Given the description of an element on the screen output the (x, y) to click on. 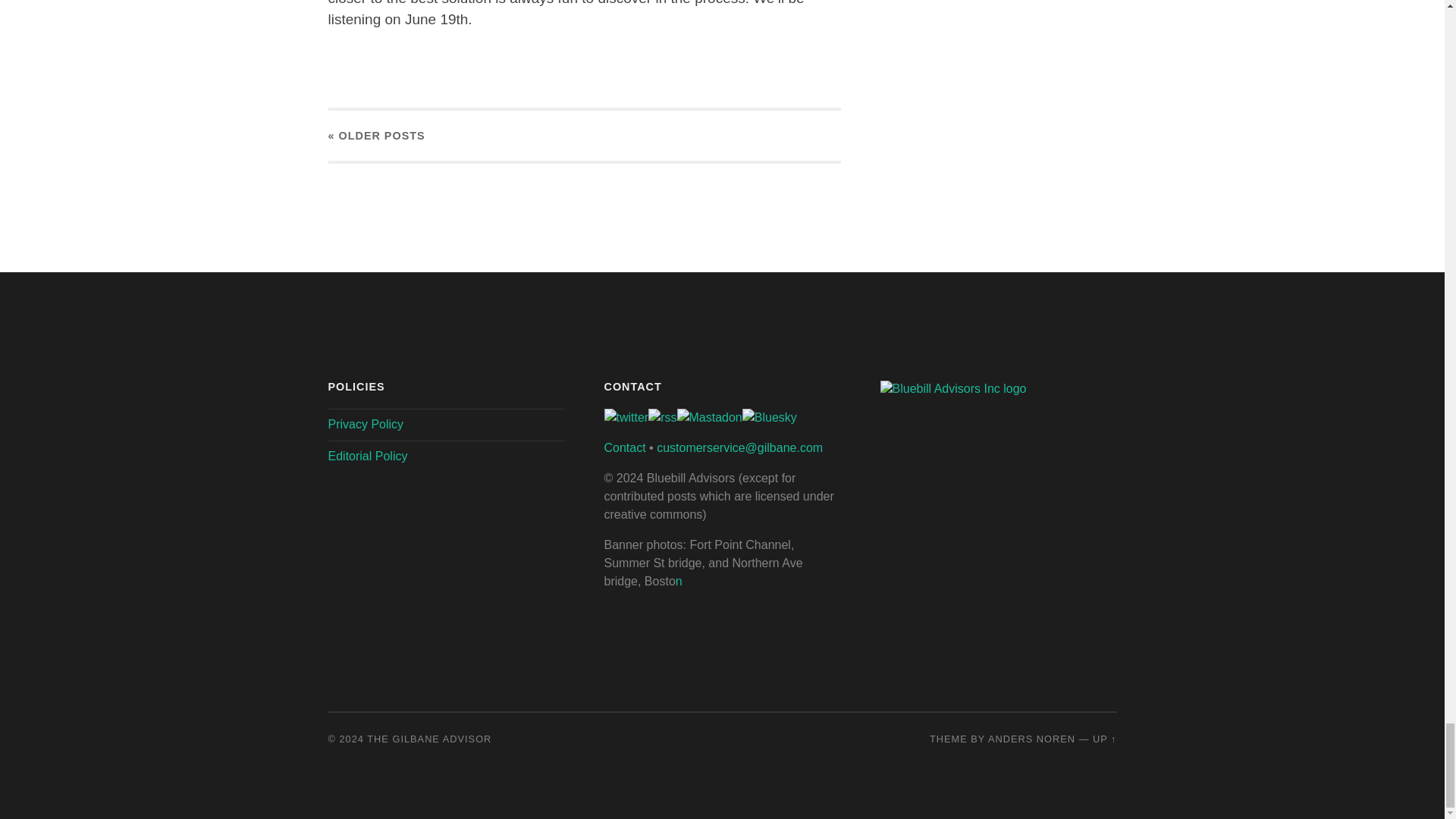
Gilbane Bluesky feed (769, 417)
Mastadon-logo-purple-32x34 (709, 417)
Gilbane twitter feed (625, 417)
To the top (1104, 738)
